Given the description of an element on the screen output the (x, y) to click on. 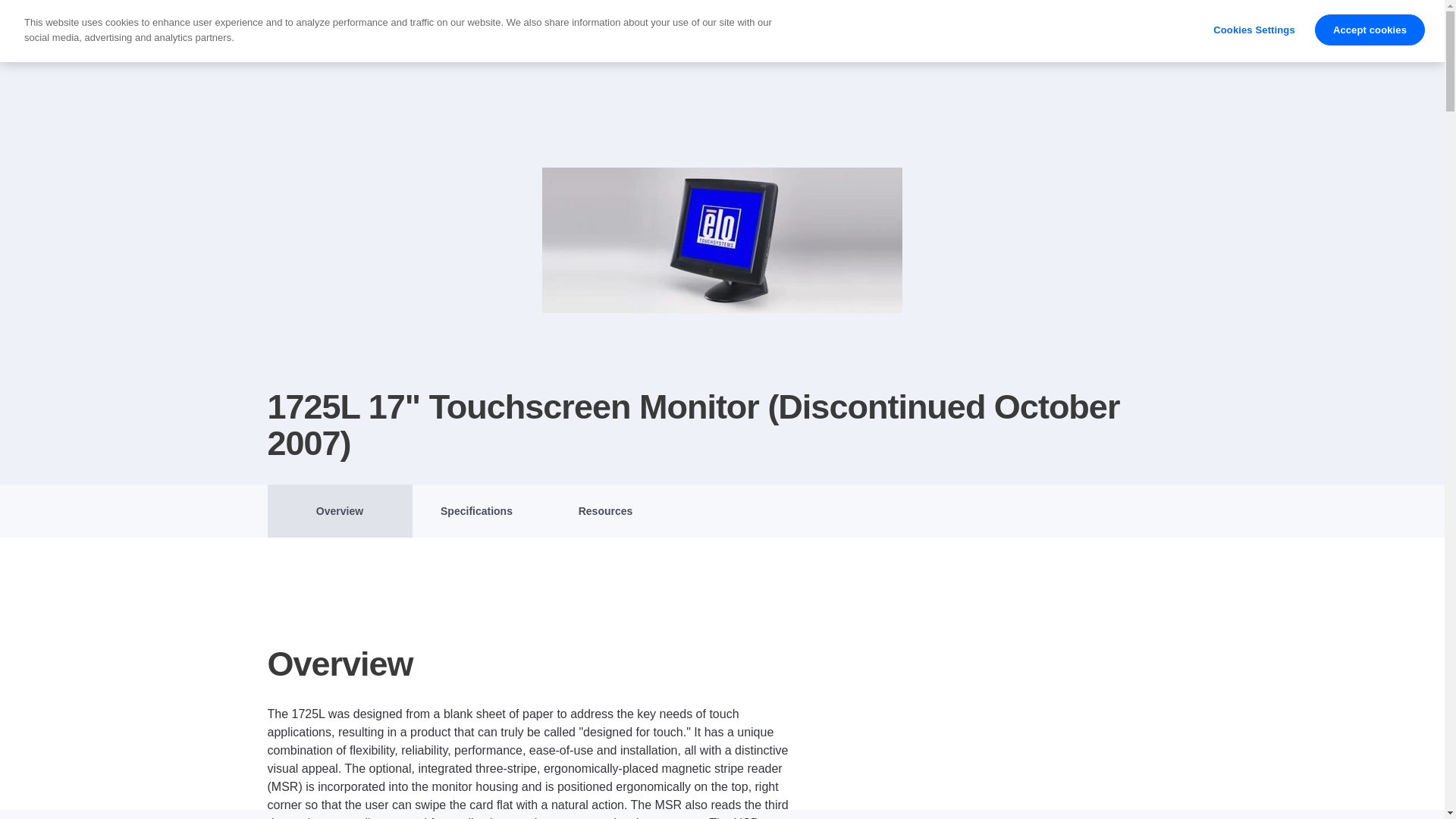
Services (630, 30)
Products (385, 30)
How to Buy (1131, 30)
Solutions (507, 30)
Support (748, 30)
